Given the description of an element on the screen output the (x, y) to click on. 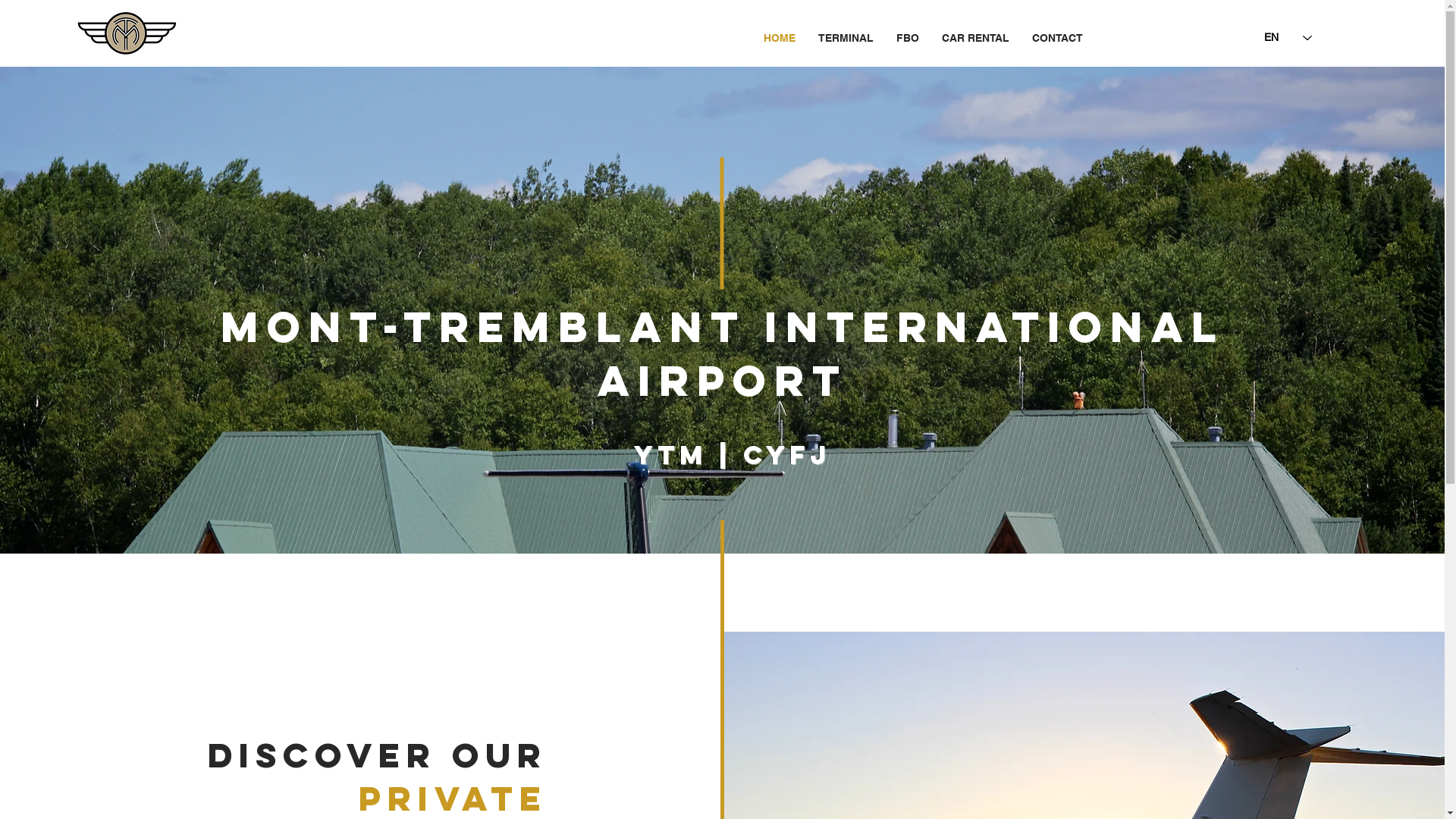
CAR RENTAL Element type: text (974, 38)
CONTACT Element type: text (1057, 38)
HOME Element type: text (779, 38)
FBO Element type: text (906, 38)
TERMINAL Element type: text (845, 38)
